Given the description of an element on the screen output the (x, y) to click on. 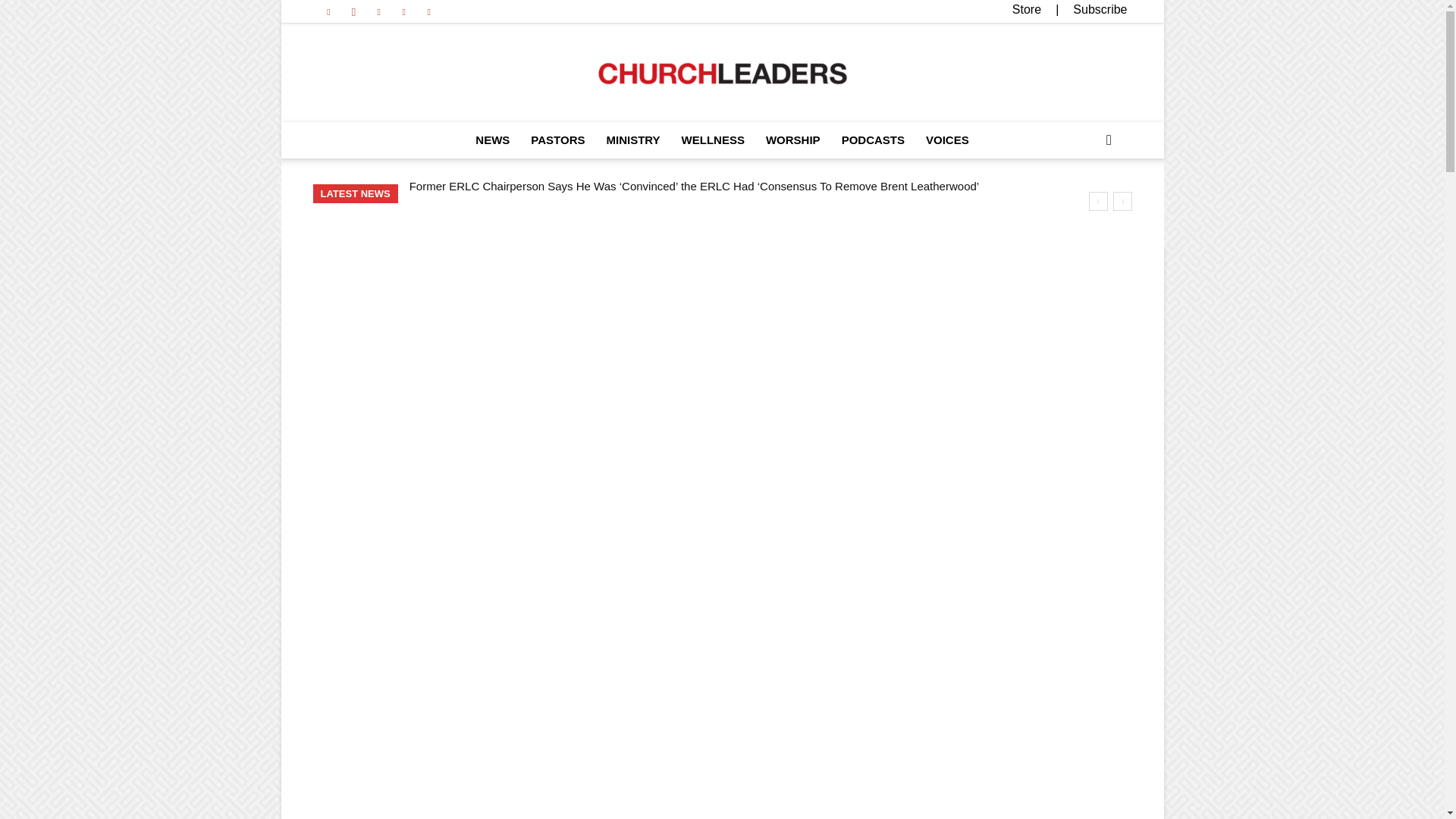
NEWS (491, 140)
ChurchLeaders Home (721, 73)
Subscribe (1099, 9)
Pinterest (379, 11)
PASTORS (557, 140)
Store (1026, 9)
Instagram (353, 11)
Facebook (328, 11)
Youtube (429, 11)
Twitter (403, 11)
ChurchLeaders (722, 73)
